Given the description of an element on the screen output the (x, y) to click on. 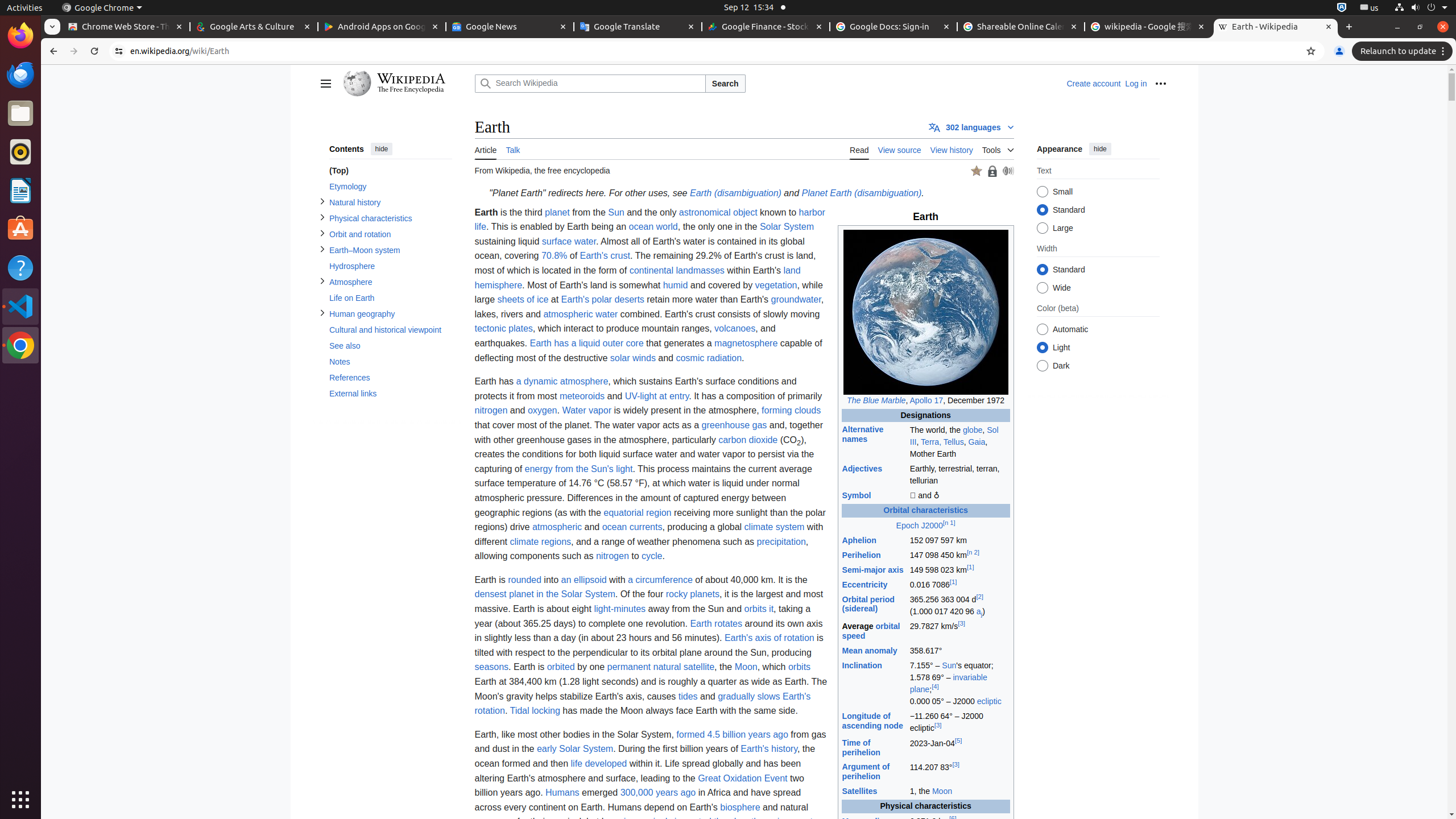
See also Element type: link (390, 345)
2023-Jan-04[5] Element type: table-cell (959, 747)
orbital speed Element type: link (870, 630)
Google Docs: Sign-in - Memory usage - 33.3 MB Element type: page-tab (893, 26)
System Element type: menu (1420, 7)
